Given the description of an element on the screen output the (x, y) to click on. 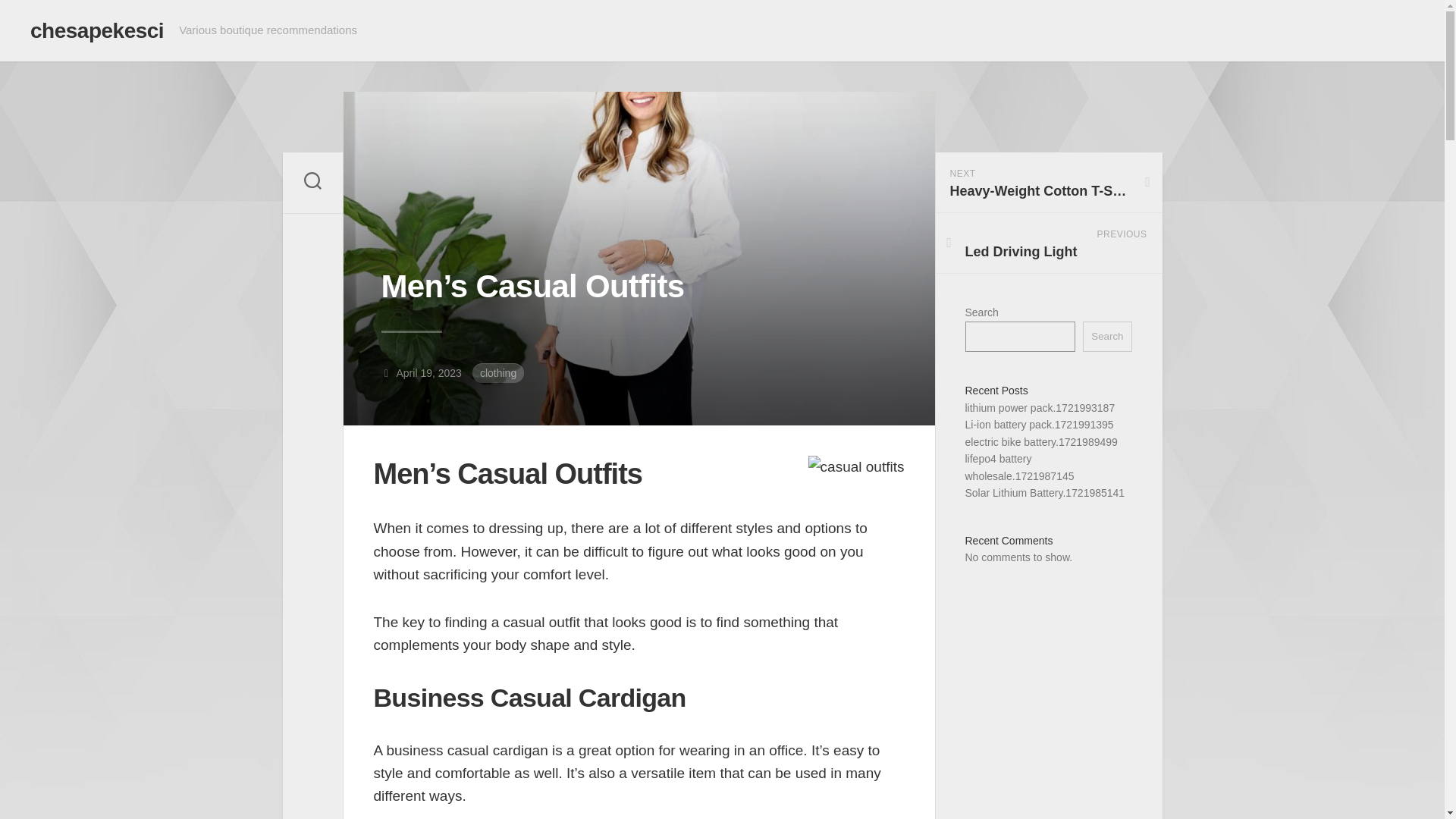
clothing (497, 372)
Solar Lithium Battery.1721985141 (1043, 492)
Li-ion battery pack.1721991395 (1038, 424)
electric bike battery.1721989499 (1039, 440)
chesapekesci (1047, 182)
lithium power pack.1721993187 (1047, 242)
Search (96, 31)
lifepo4 battery wholesale.1721987145 (1039, 408)
